Given the description of an element on the screen output the (x, y) to click on. 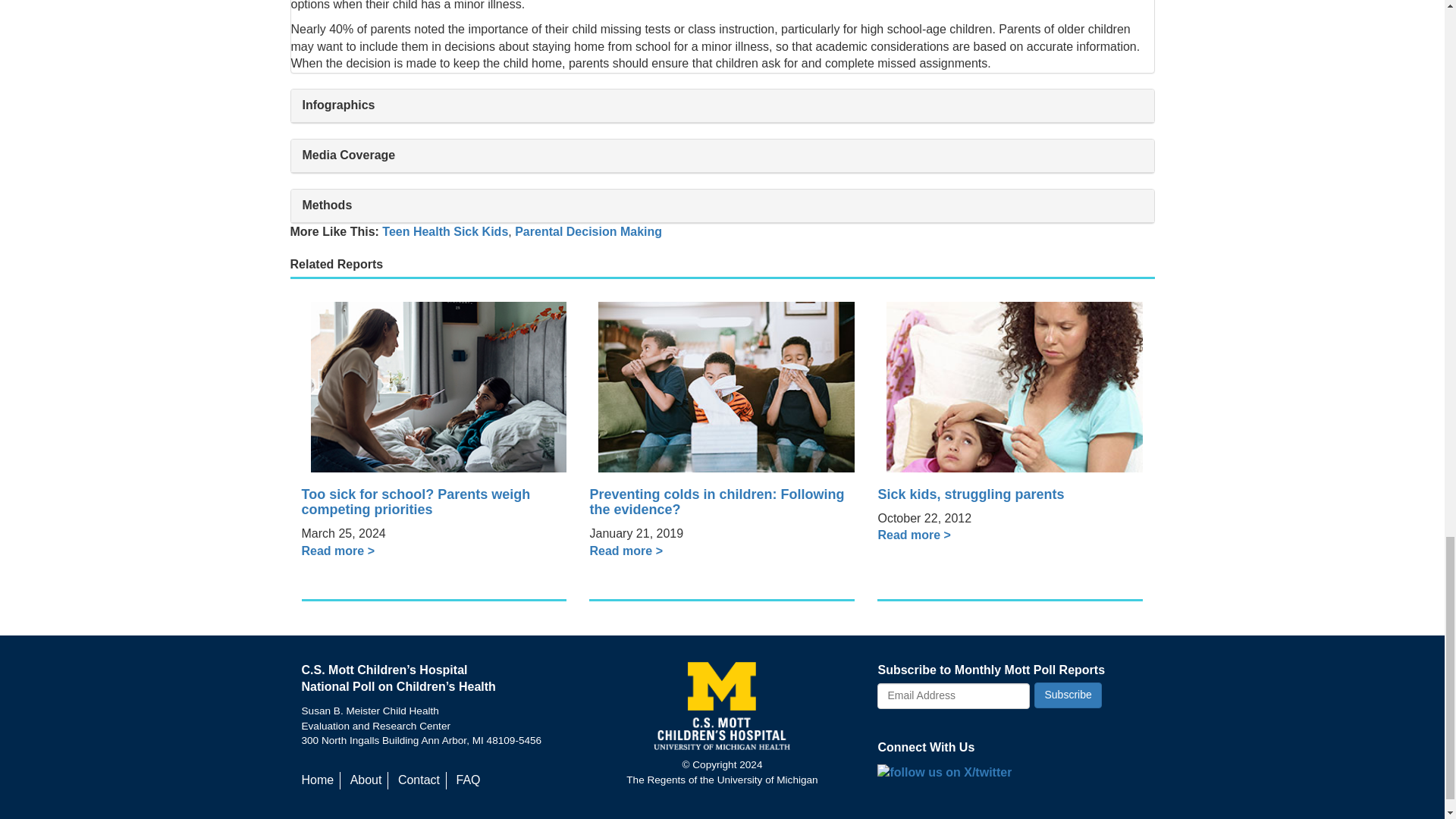
Methods (722, 205)
Teen Health (415, 231)
Media Coverage (722, 155)
Infographics (722, 105)
Subscribe (1066, 695)
